Given the description of an element on the screen output the (x, y) to click on. 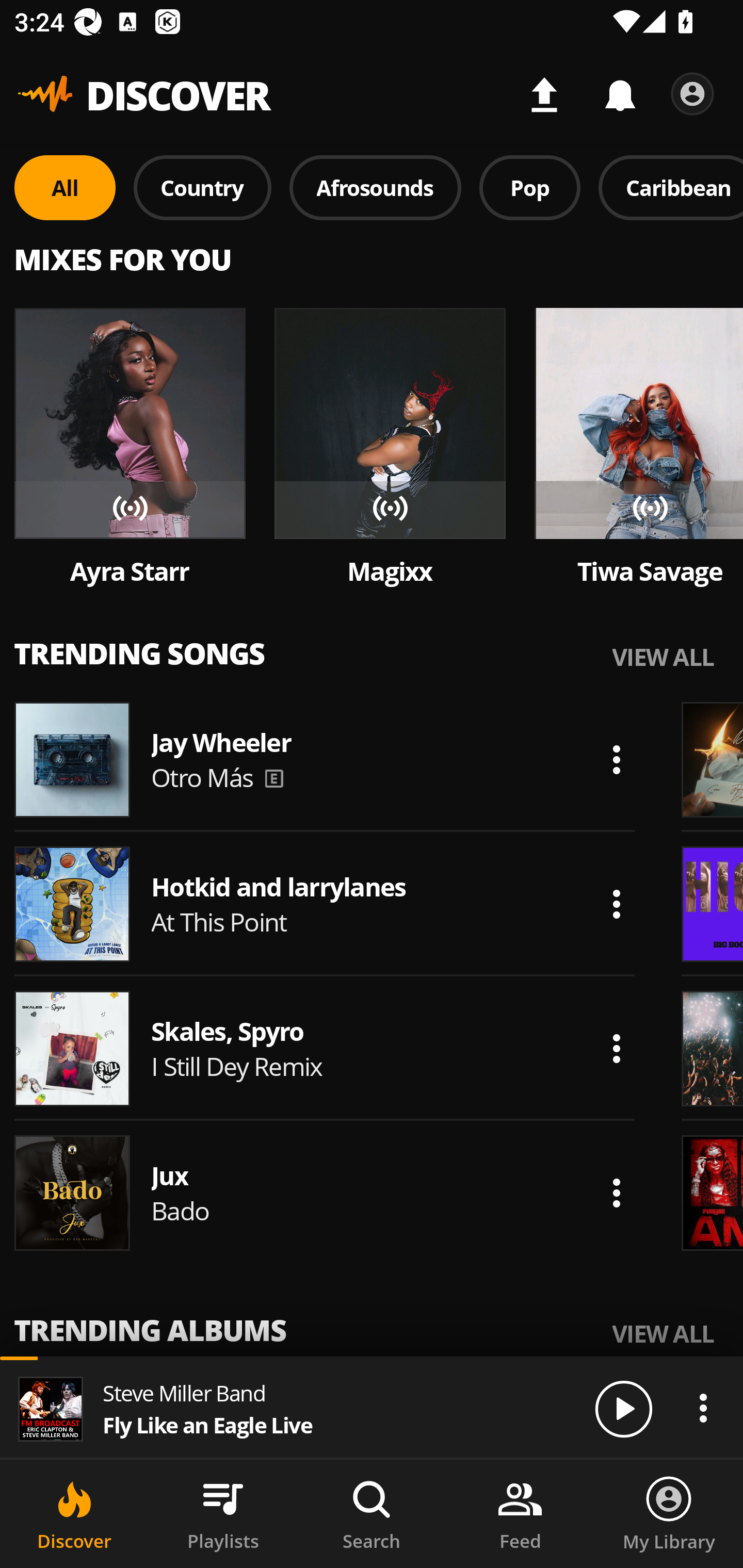
Settings (692, 94)
All (64, 187)
Country (202, 187)
Afrosounds (375, 187)
Pop (529, 187)
Caribbean (670, 187)
Song artwork Song artwork Song artwork Ayra Starr (129, 447)
Song artwork Song artwork Song artwork Magixx (389, 447)
Song artwork Song artwork Song artwork Tiwa Savage (638, 447)
VIEW ALL (663, 655)
Song artwork Jay Wheeler Otro Más    Actions (324, 759)
Actions (616, 759)
Actions (616, 903)
Actions (616, 1048)
Song artwork Jux Bado Actions (324, 1193)
Actions (616, 1193)
VIEW ALL (663, 1333)
Actions (703, 1407)
Play/Pause (623, 1408)
Discover (74, 1513)
Playlists (222, 1513)
Search (371, 1513)
Feed (519, 1513)
My Library (668, 1513)
